Given the description of an element on the screen output the (x, y) to click on. 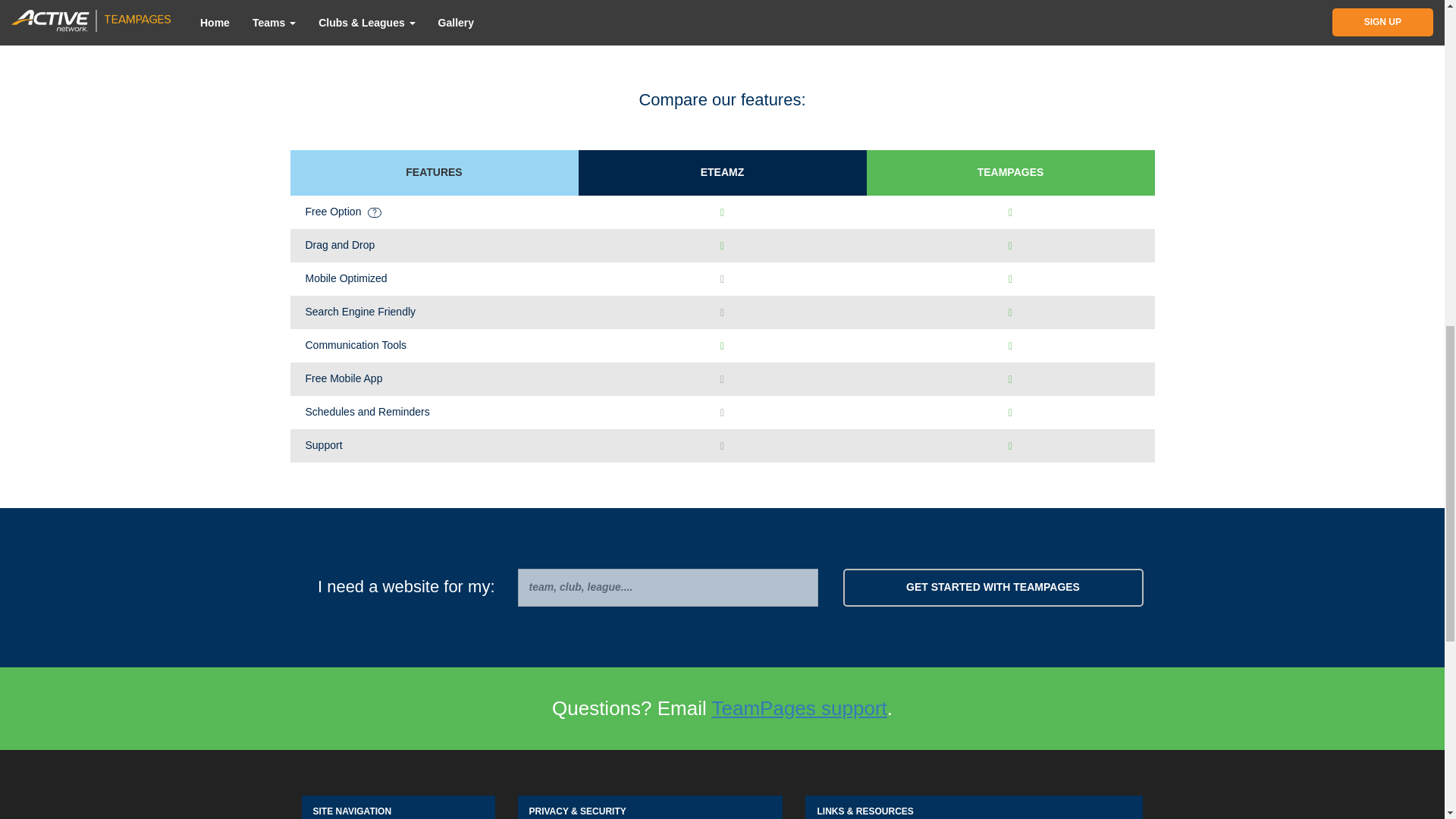
GET STARTED WITH TEAMPAGES (992, 587)
TeamPages support (798, 707)
Free Option (433, 212)
